Given the description of an element on the screen output the (x, y) to click on. 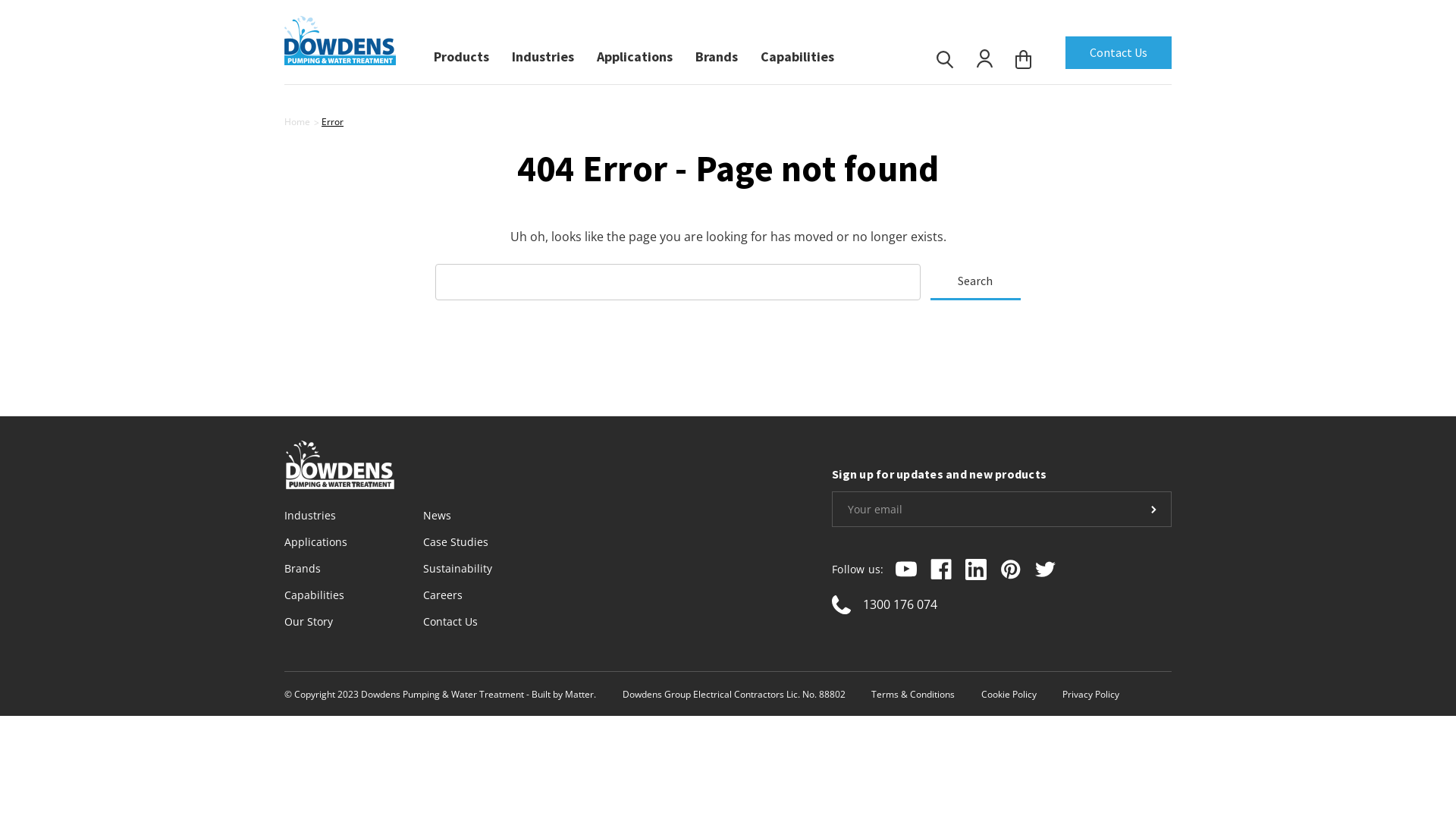
Sustainability Element type: text (457, 568)
Cookie Policy Element type: text (1008, 693)
Careers Element type: text (442, 594)
1300 176 074 Element type: text (899, 604)
Contact Us Element type: text (1118, 52)
Privacy Policy Element type: text (1090, 693)
News Element type: text (437, 515)
Industries Element type: text (309, 515)
Contact Us Element type: text (450, 621)
Brands Element type: text (302, 568)
Brands Element type: text (716, 52)
Applications Element type: text (315, 541)
Capabilities Element type: text (797, 52)
Industries Element type: text (542, 52)
Dowdens Pumping & Water Treatment Element type: hover (339, 39)
Terms & Conditions Element type: text (912, 693)
Applications Element type: text (634, 52)
Home Element type: text (297, 121)
Search Element type: text (975, 281)
Our Story Element type: text (308, 621)
Case Studies Element type: text (455, 541)
Capabilities Element type: text (314, 594)
Products Element type: text (461, 52)
